Given the description of an element on the screen output the (x, y) to click on. 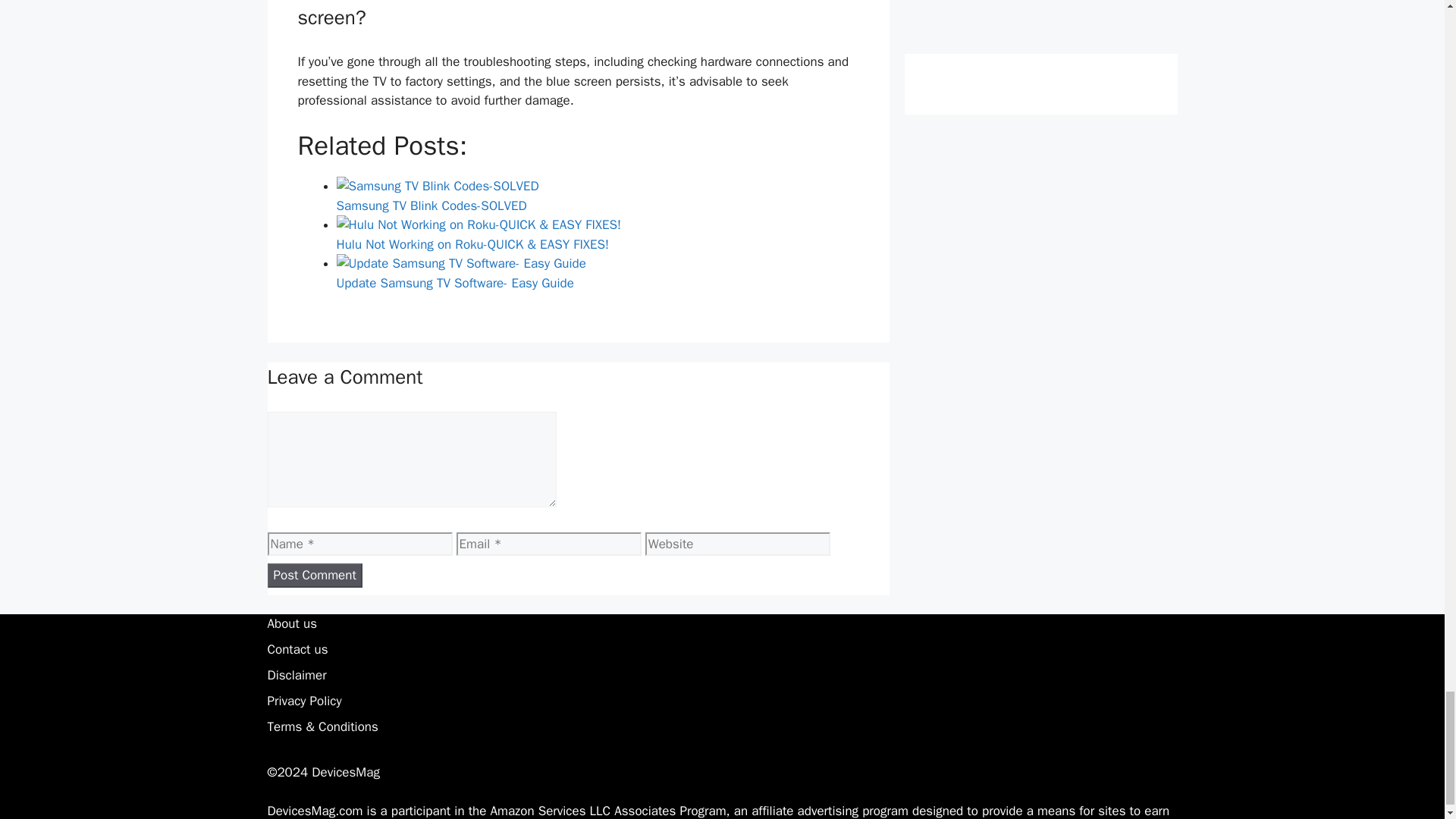
Samsung TV Blink Codes-SOLVED (597, 194)
Update Samsung TV Software- Easy Guide (461, 263)
Post Comment (313, 575)
Post Comment (313, 575)
Contact us (296, 649)
Samsung TV Blink Codes-SOLVED (437, 186)
About us (291, 623)
Update Samsung TV Software- Easy Guide (597, 272)
